Given the description of an element on the screen output the (x, y) to click on. 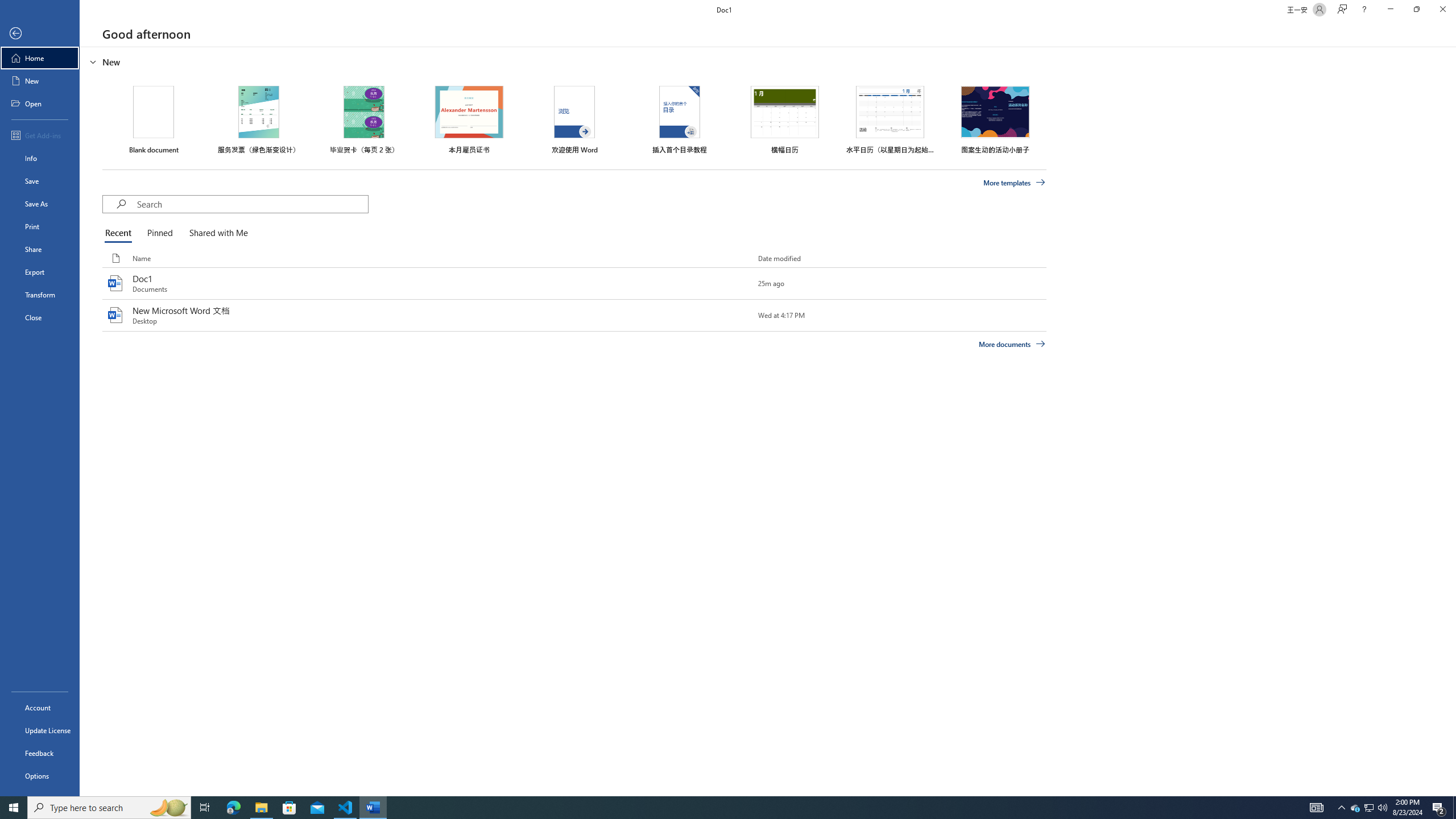
Shared with Me (215, 233)
